Given the description of an element on the screen output the (x, y) to click on. 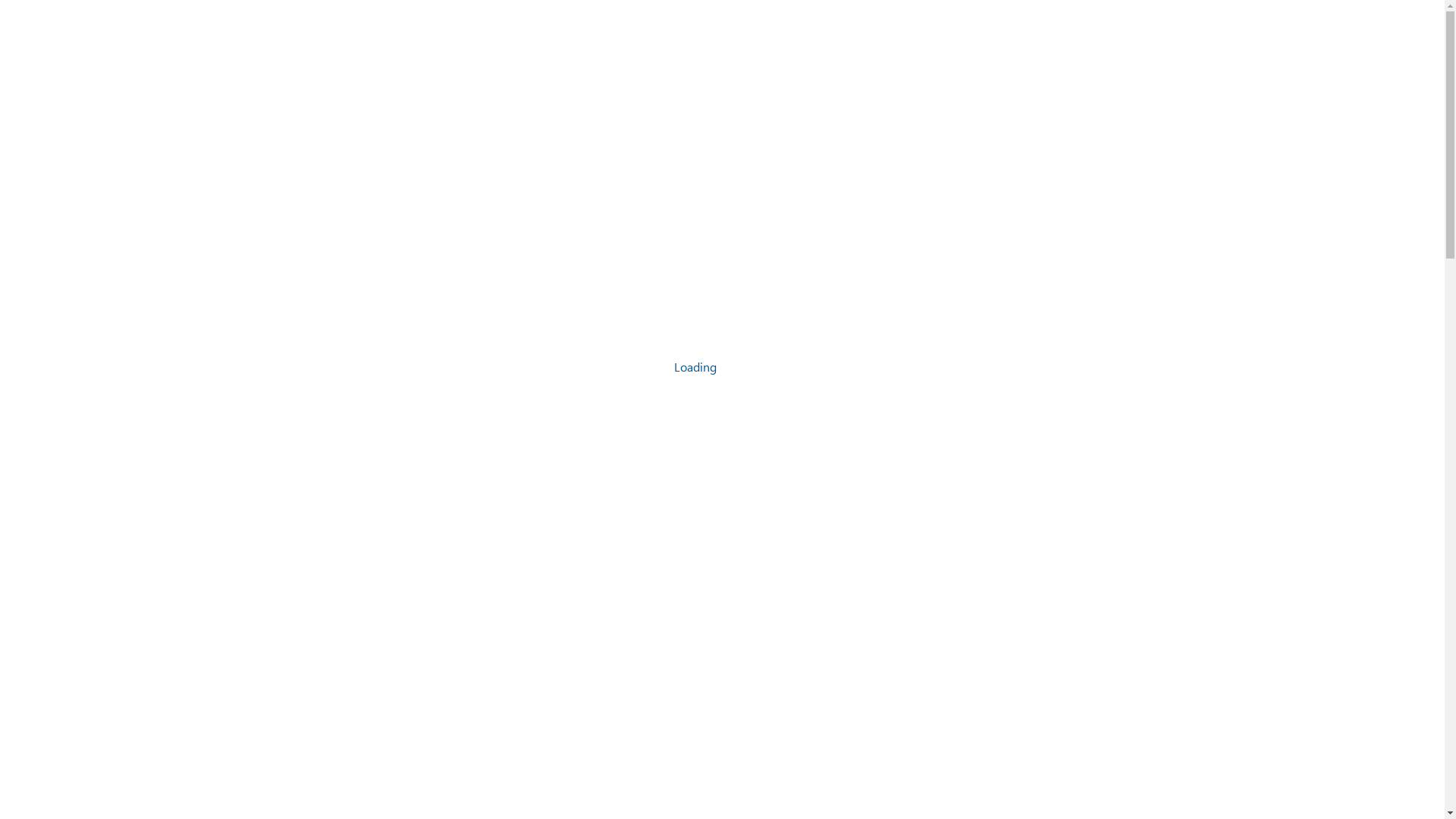
eSchool Element type: text (931, 52)
eEvaluation Element type: text (1024, 52)
Contact Us Element type: text (1264, 52)
eLibrary Element type: text (1174, 52)
Home Element type: text (786, 52)
eHR Element type: text (1104, 52)
eStore Element type: text (855, 52)
